Given the description of an element on the screen output the (x, y) to click on. 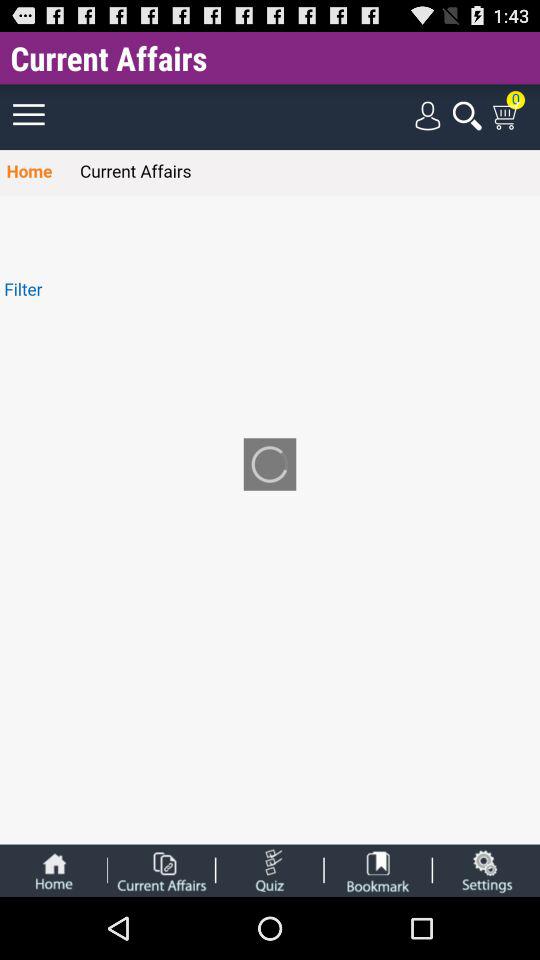
quiz icon (269, 870)
